Given the description of an element on the screen output the (x, y) to click on. 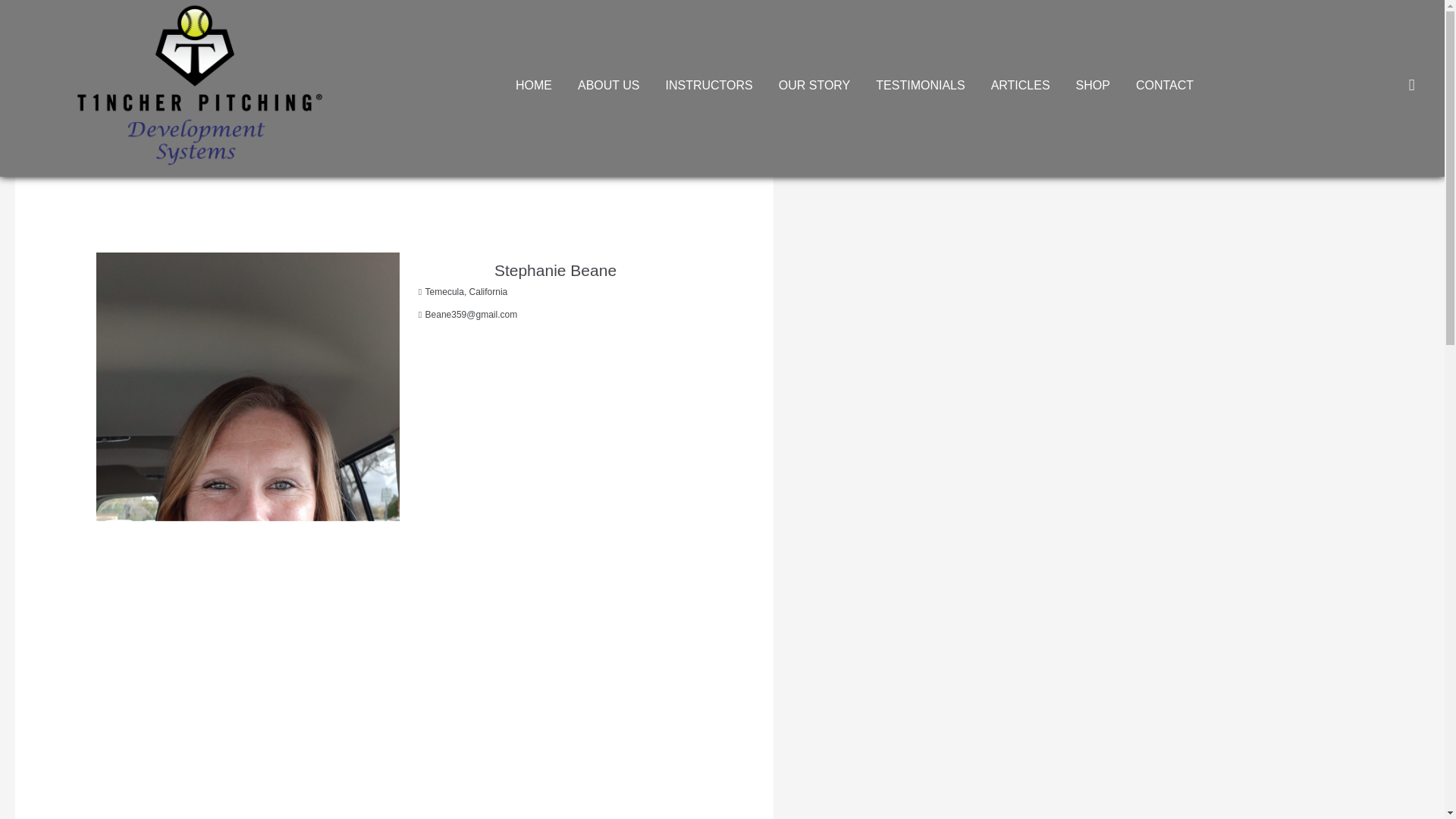
INSTRUCTORS (708, 85)
ARTICLES (1020, 85)
HOME (533, 85)
CONTACT (1164, 85)
SHOP (1092, 85)
ABOUT US (608, 85)
OUR STORY (814, 85)
TESTIMONIALS (919, 85)
